Given the description of an element on the screen output the (x, y) to click on. 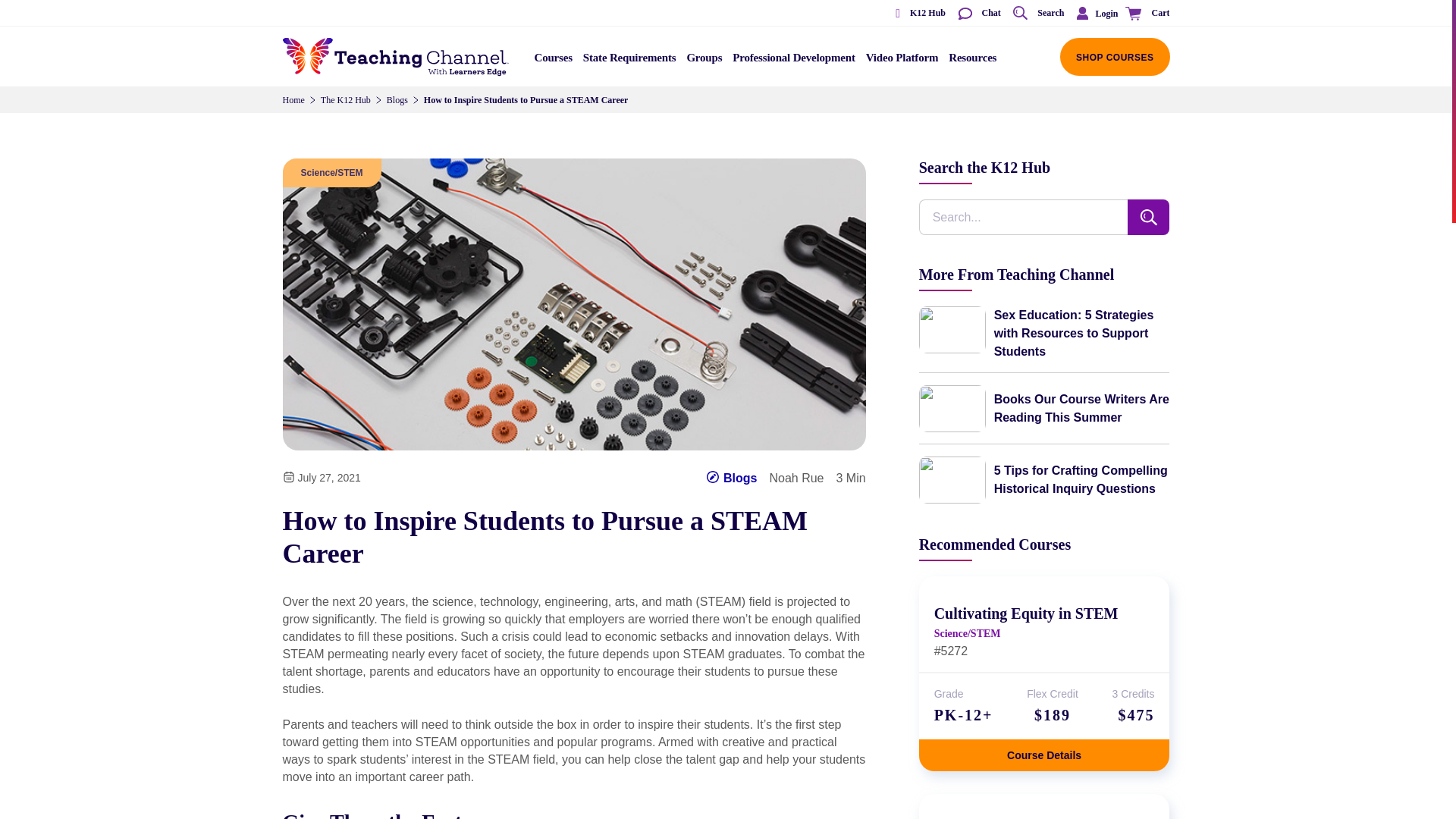
Search (1037, 13)
Courses (553, 62)
Login (1093, 12)
Cart (1145, 13)
Chat (978, 13)
K12 Hub (914, 13)
State Requirements (629, 62)
